Given the description of an element on the screen output the (x, y) to click on. 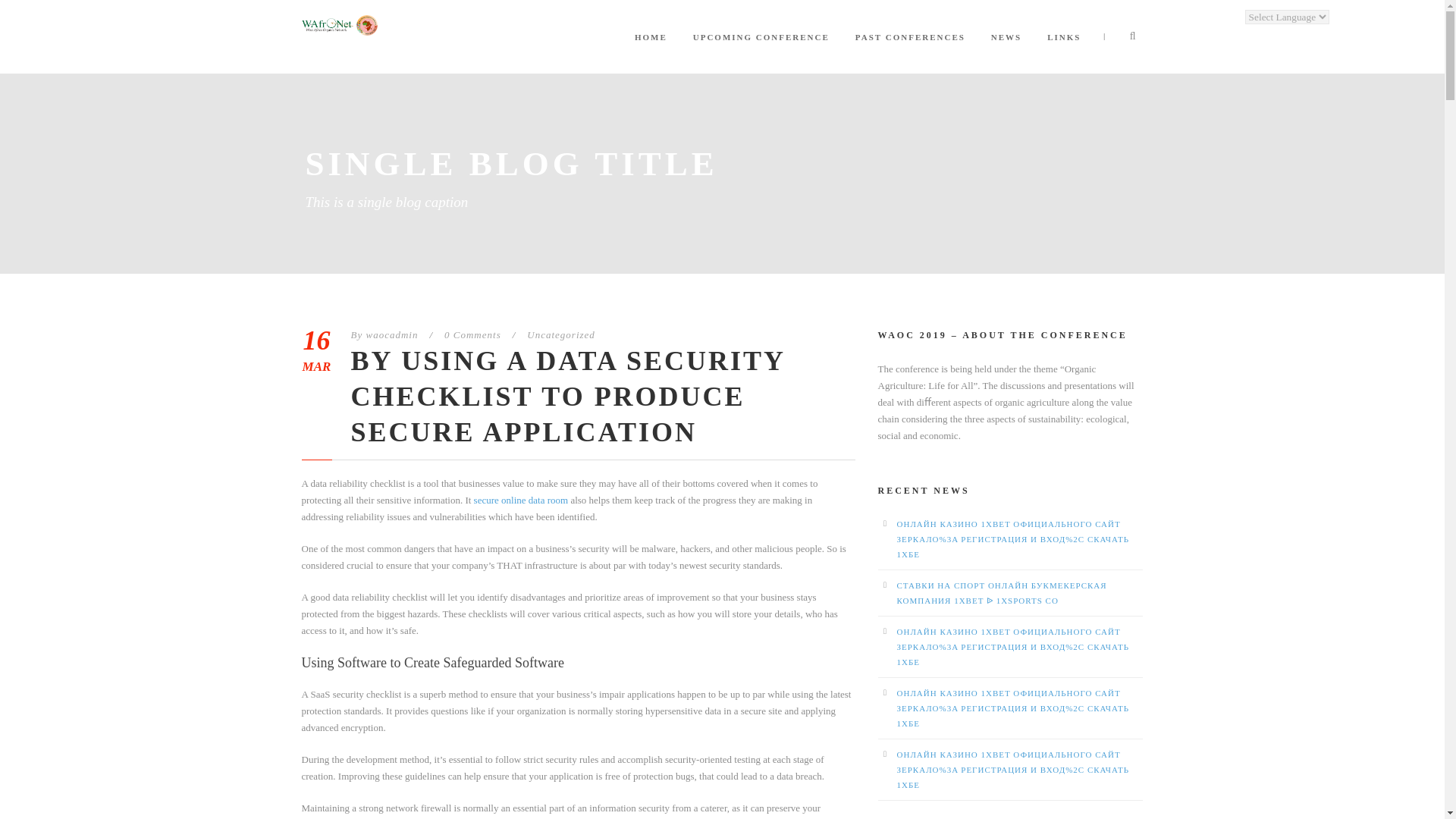
UPCOMING CONFERENCE (761, 51)
Posts by waocadmin (391, 334)
PAST CONFERENCES (910, 51)
